Given the description of an element on the screen output the (x, y) to click on. 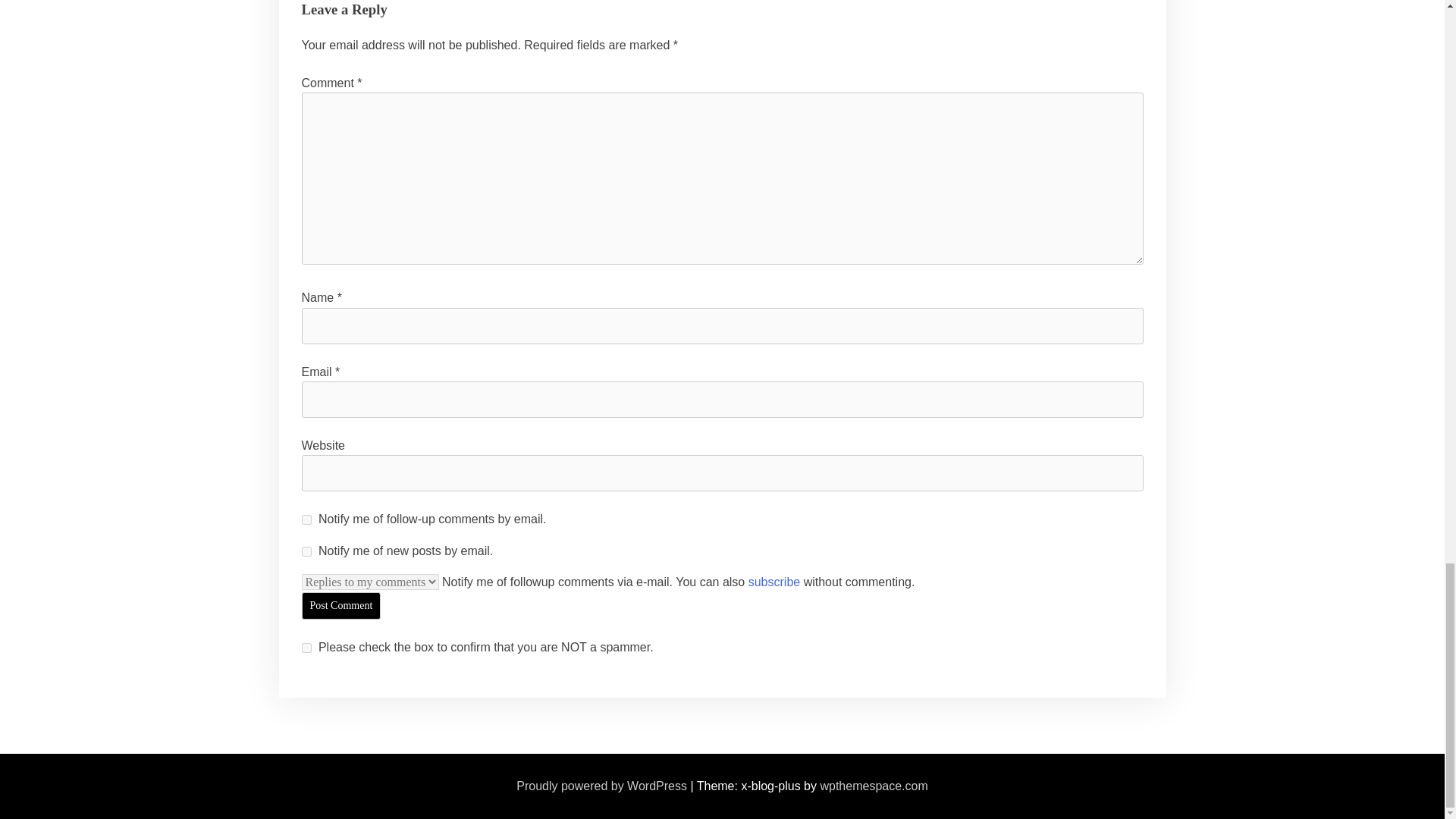
subscribe (773, 581)
wpthemespace.com (873, 786)
subscribe (306, 519)
Proudly powered by WordPress (601, 786)
Post Comment (341, 605)
Post Comment (341, 605)
subscribe (306, 551)
on (306, 647)
